Given the description of an element on the screen output the (x, y) to click on. 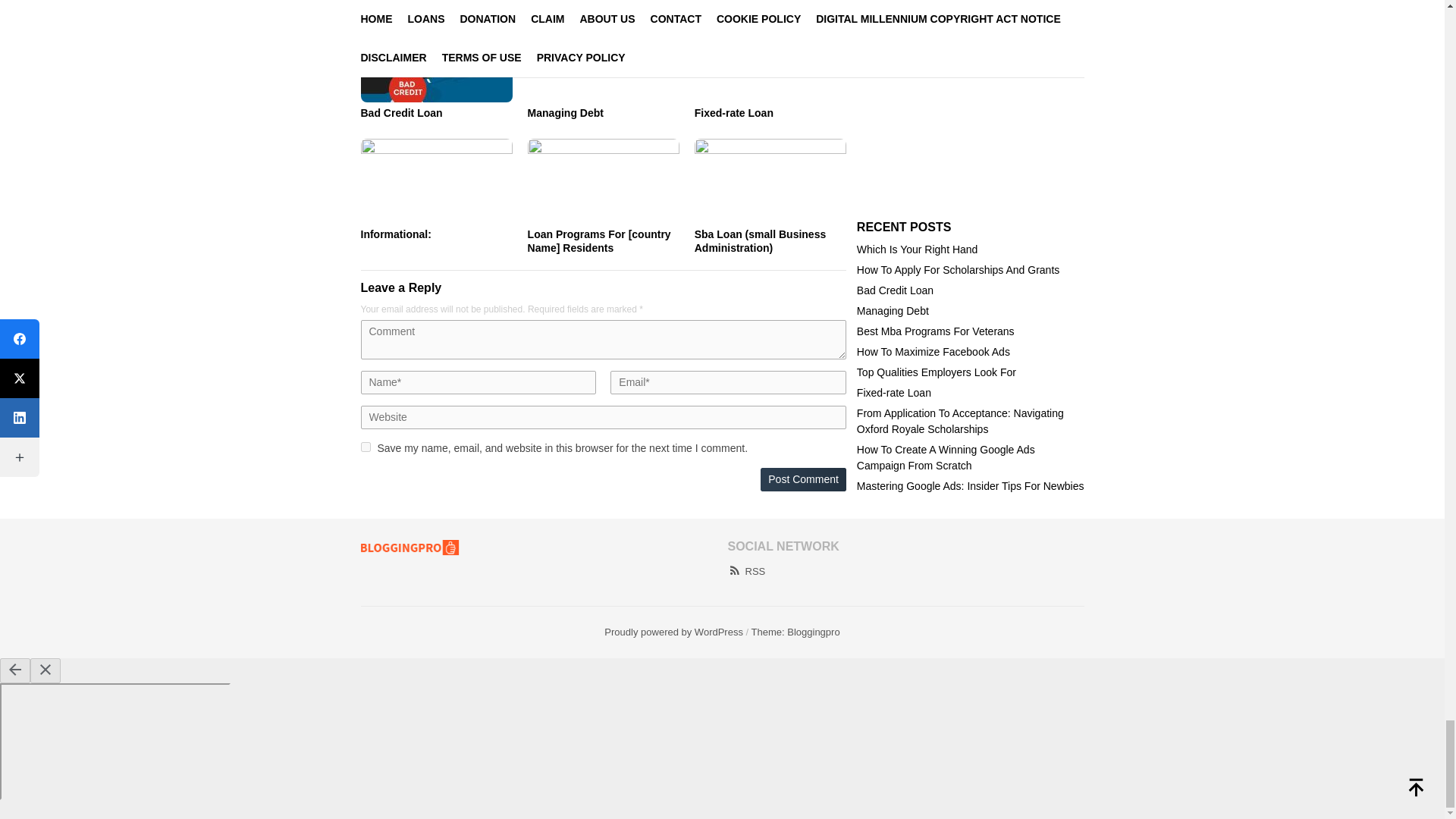
Post Comment (802, 479)
yes (366, 447)
